Given the description of an element on the screen output the (x, y) to click on. 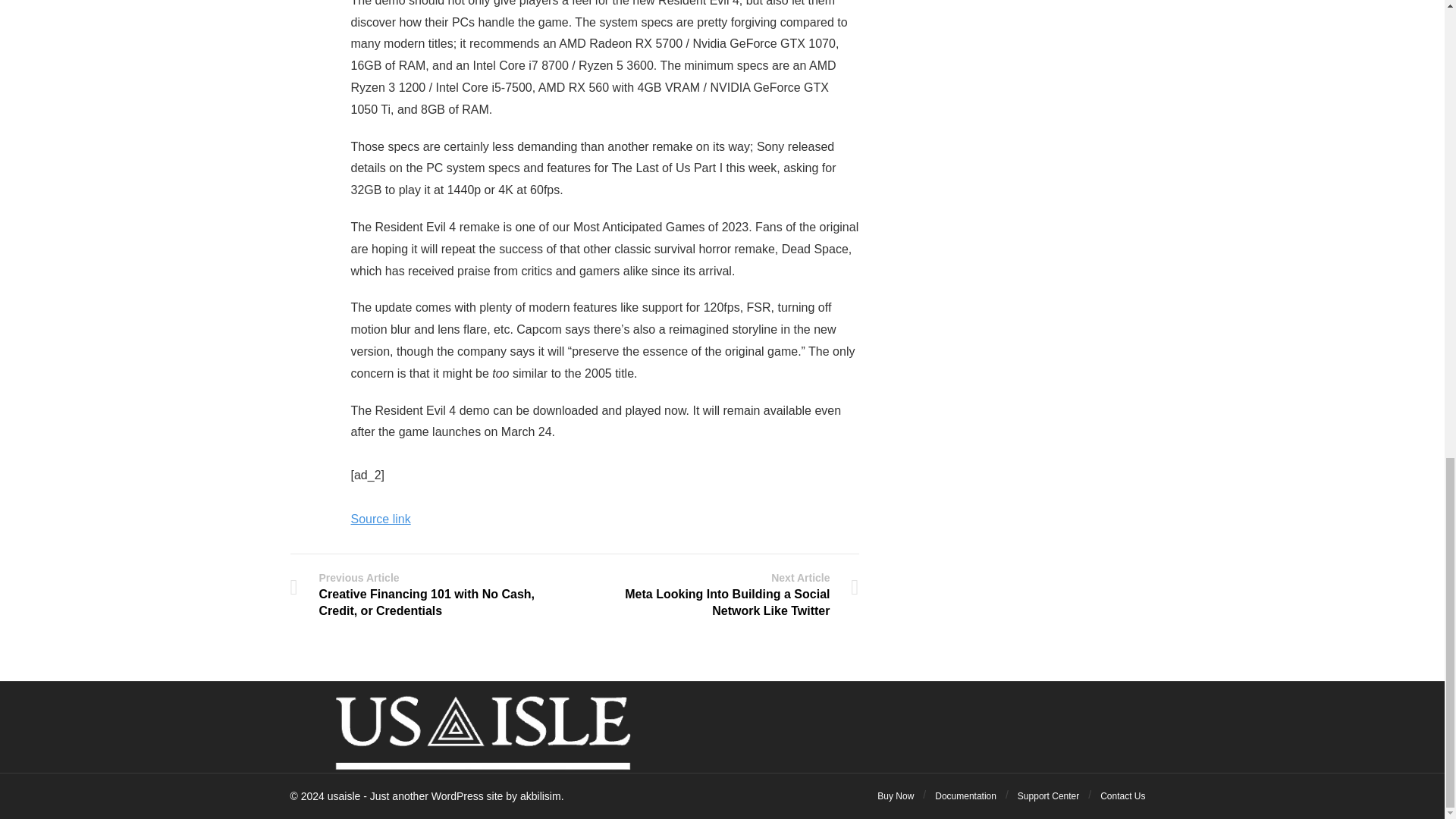
Documentation (964, 796)
akbilisim (539, 796)
Support Center (1047, 796)
usaisle (344, 796)
Just another WordPress site (344, 796)
Contact Us (1122, 796)
Source link (380, 518)
akbilisim (539, 796)
Buy Now (895, 796)
